Given the description of an element on the screen output the (x, y) to click on. 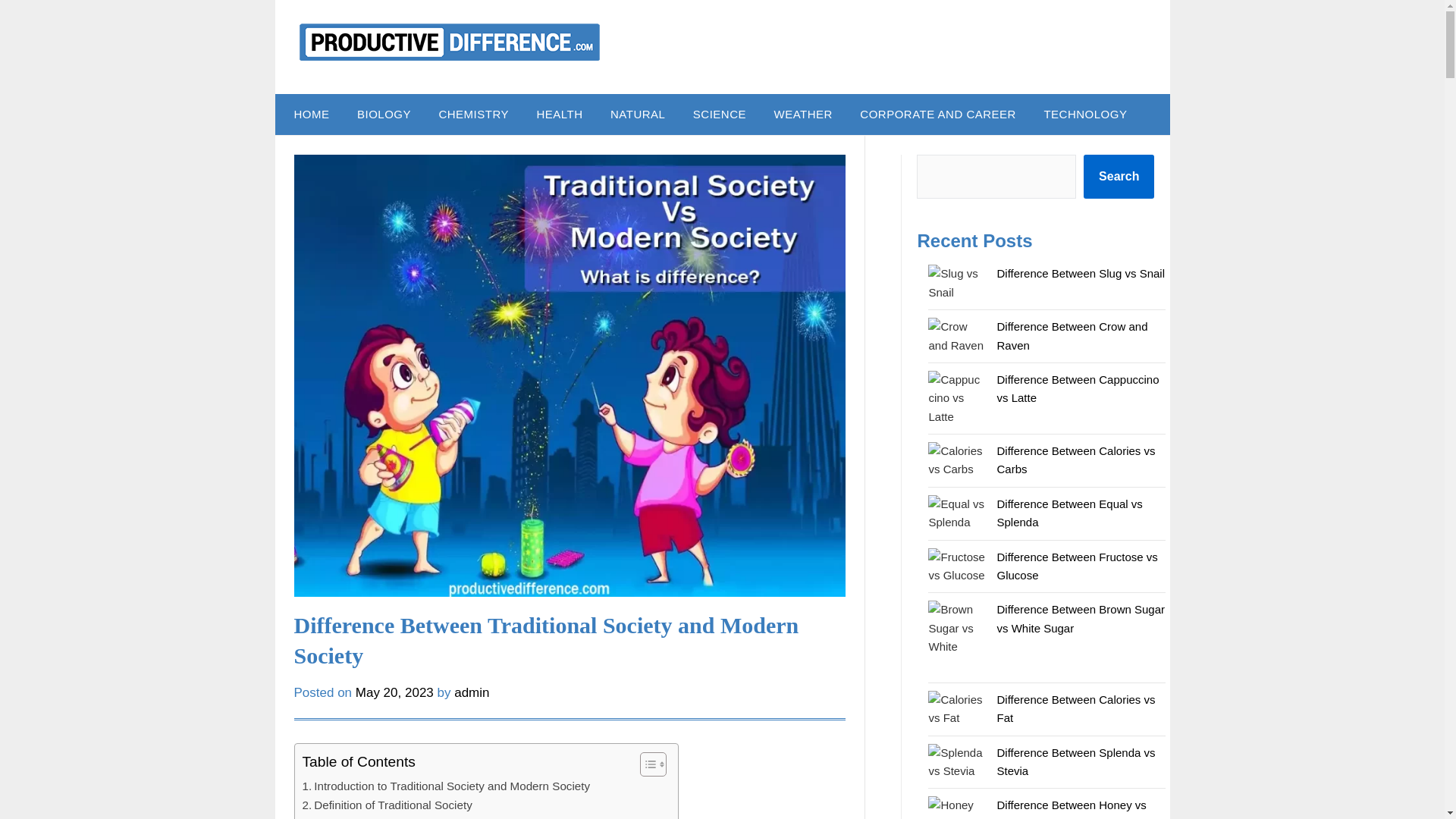
TECHNOLOGY (1084, 114)
NATURAL (637, 114)
Search (1118, 176)
The Dawn of Traditional Society: Ancient Civilizations (443, 816)
BIOLOGY (384, 114)
CORPORATE AND CAREER (937, 114)
SCIENCE (719, 114)
The Dawn of Traditional Society: Ancient Civilizations (443, 816)
Introduction to Traditional Society and Modern Society (445, 786)
Definition of Traditional Society (386, 805)
